Given the description of an element on the screen output the (x, y) to click on. 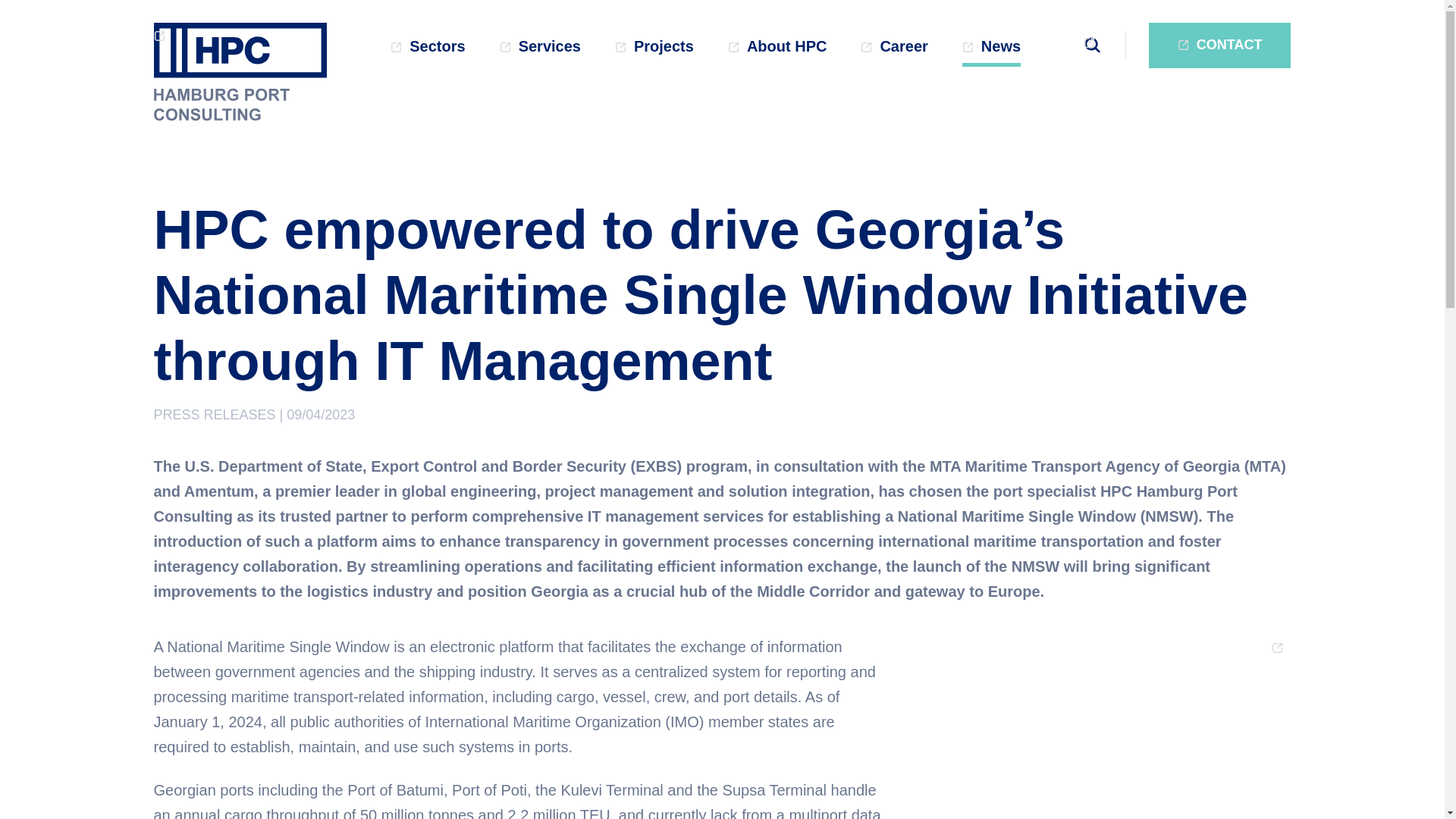
Services (539, 50)
Sectors (427, 50)
Sectors (427, 50)
HPC Hamburg Port Consulting GmbH  (239, 71)
Projects (654, 50)
Services (539, 50)
